Given the description of an element on the screen output the (x, y) to click on. 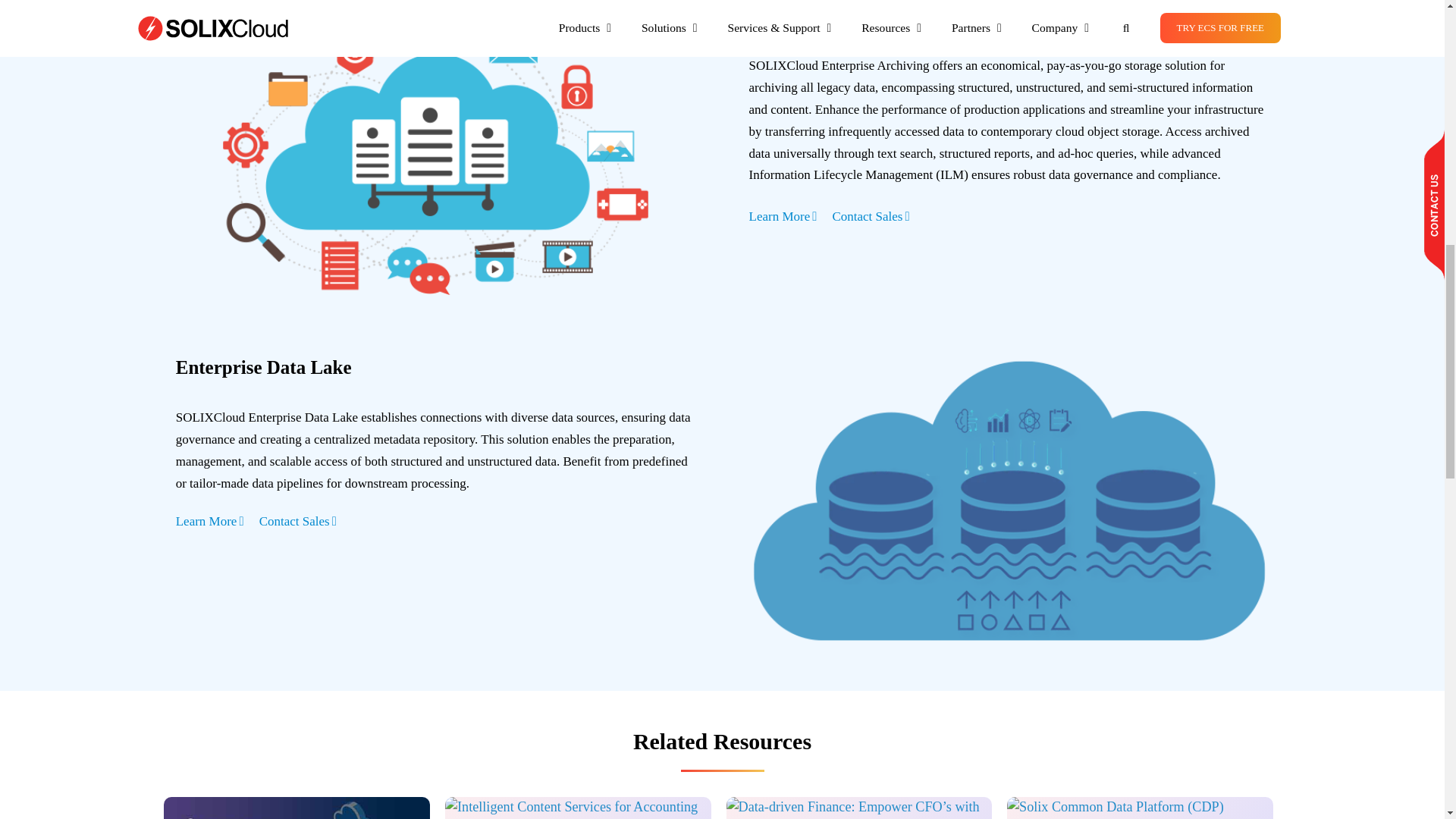
Guide to Digital Transformation: Cloud Data Management (296, 807)
